Given the description of an element on the screen output the (x, y) to click on. 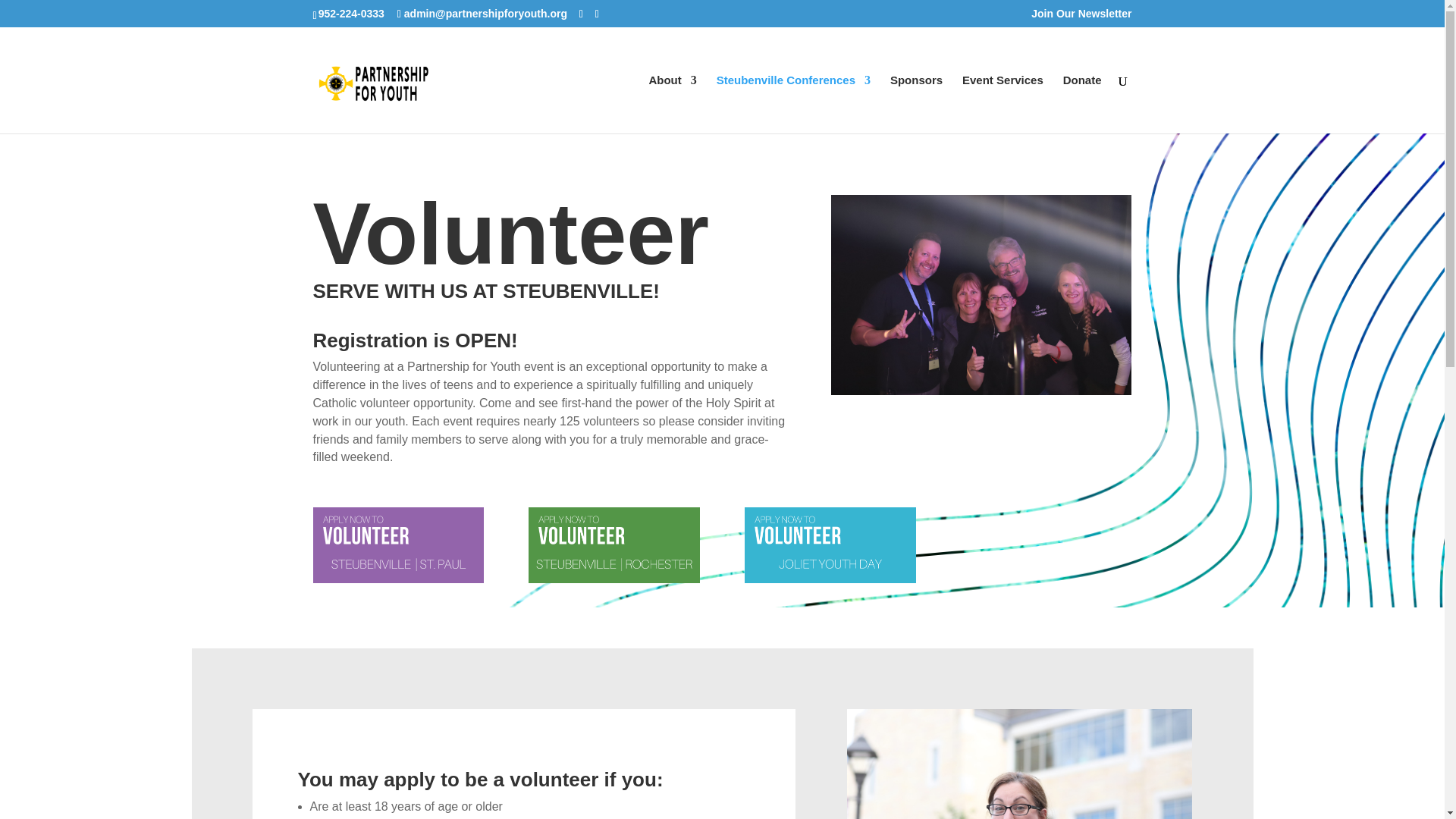
Donate (1082, 104)
Join Our Newsletter (1080, 16)
Steubenville Conferences (793, 104)
About (671, 104)
Volunteer (829, 544)
Event Services (1002, 104)
Sponsors (915, 104)
